Given the description of an element on the screen output the (x, y) to click on. 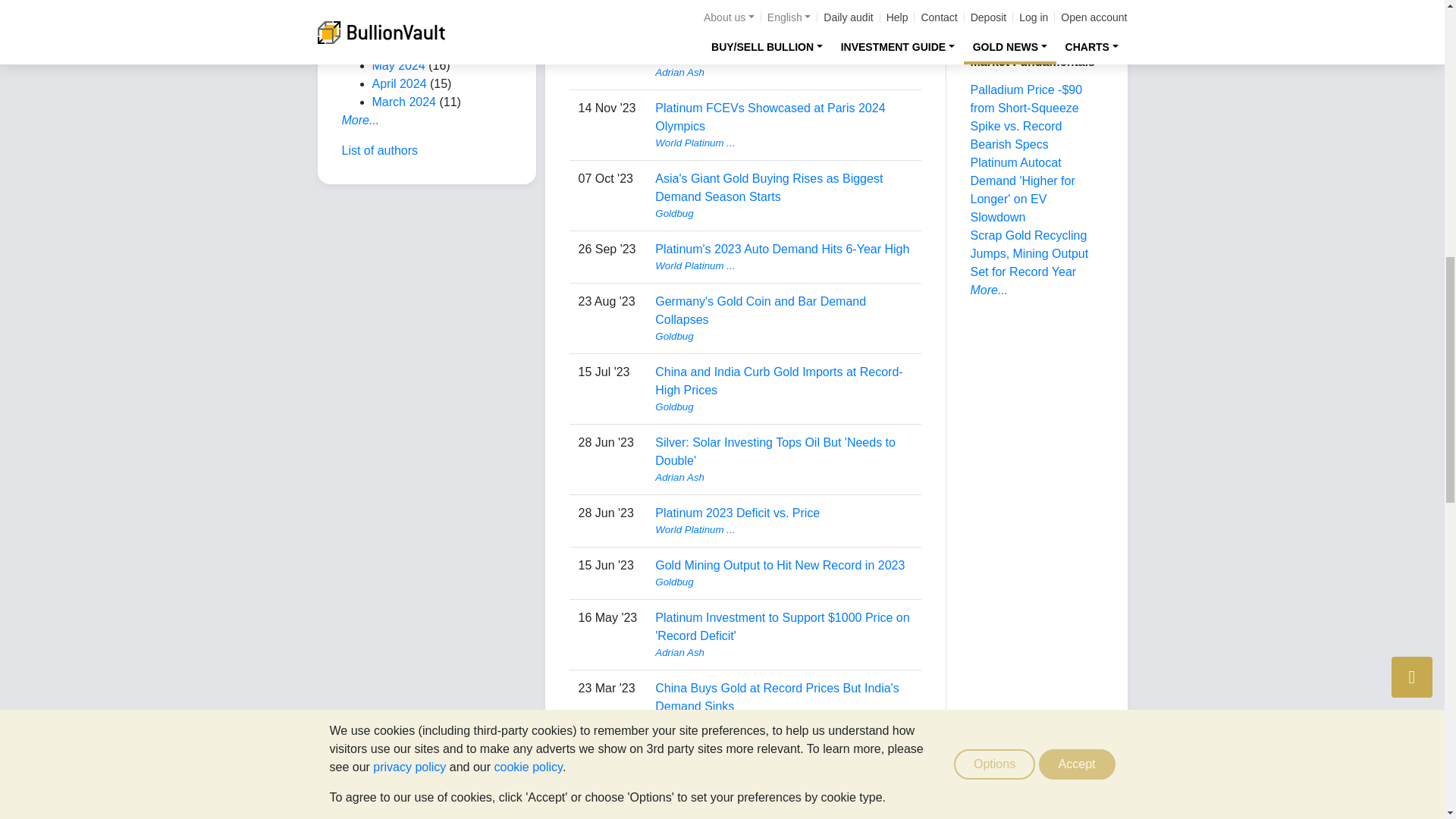
View user profile. (783, 72)
View user profile. (783, 213)
View user profile. (783, 142)
View user profile. (783, 265)
View user profile. (783, 20)
